Given the description of an element on the screen output the (x, y) to click on. 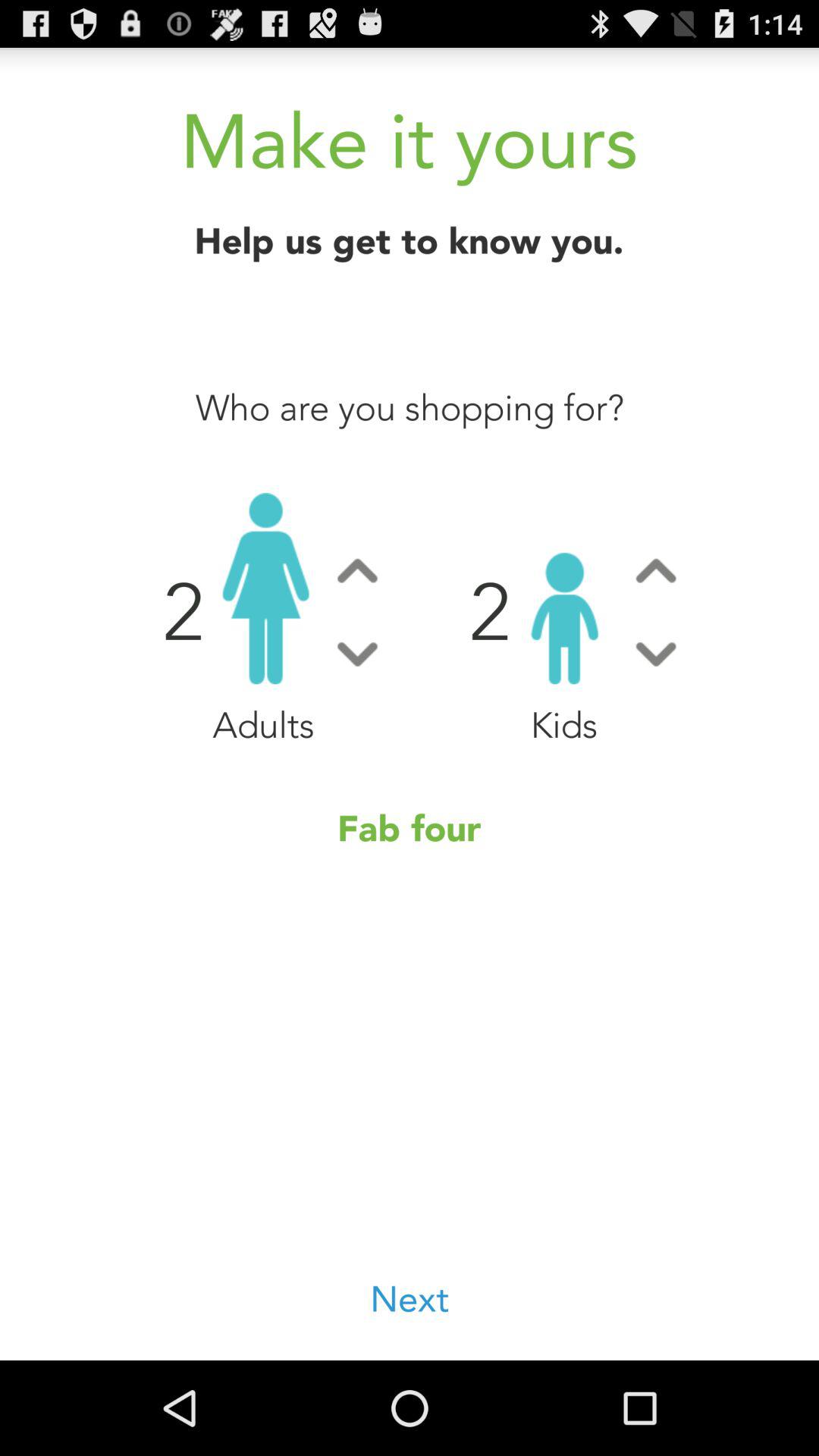
swipe to next (409, 1300)
